Given the description of an element on the screen output the (x, y) to click on. 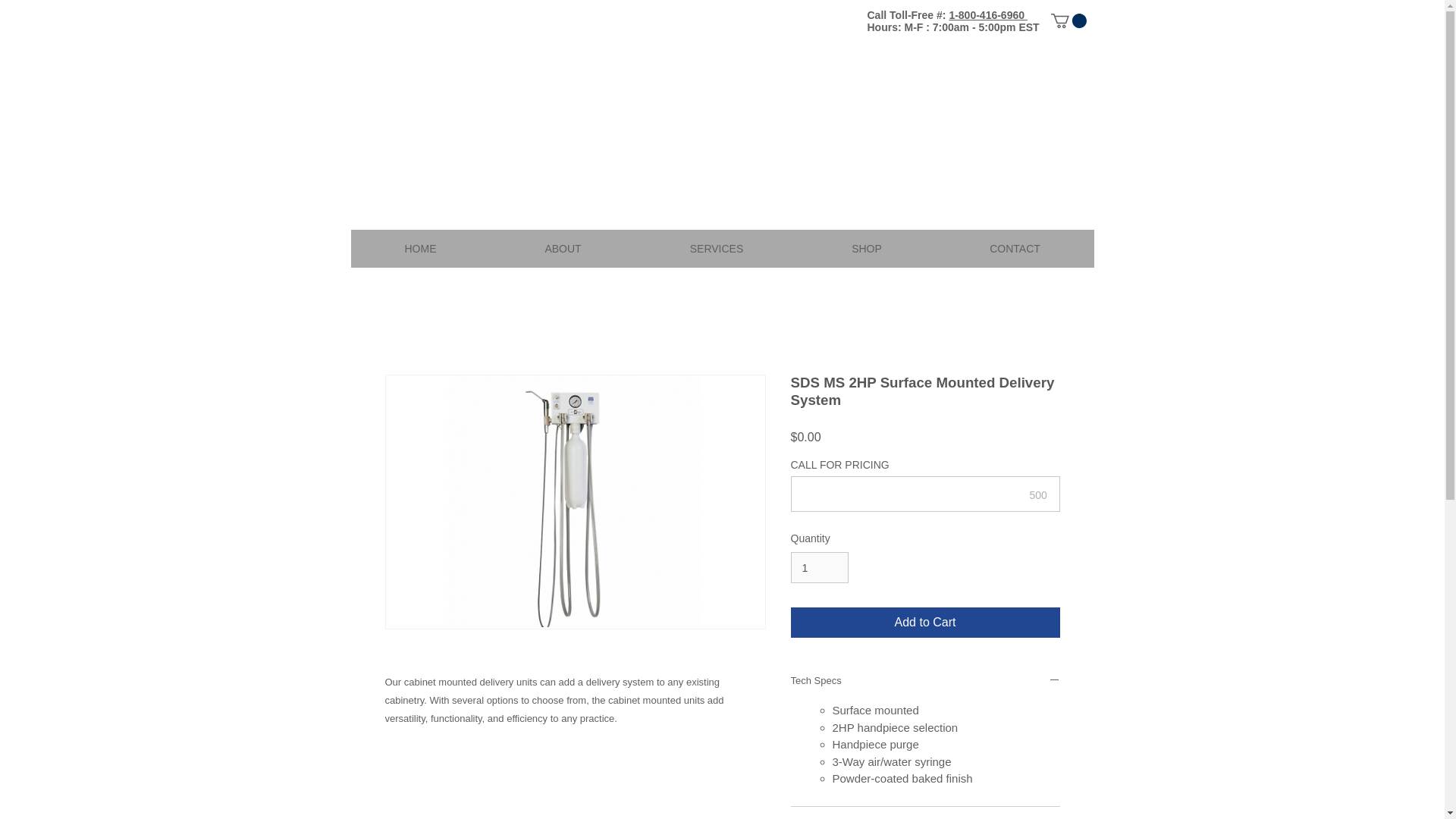
SERVICES (715, 248)
1-800-416-6960  (988, 15)
1 (818, 567)
Add to Cart (924, 622)
SHOP (866, 248)
HOME (419, 248)
ABOUT (561, 248)
Tech Specs (924, 681)
CONTACT (1015, 248)
